Given the description of an element on the screen output the (x, y) to click on. 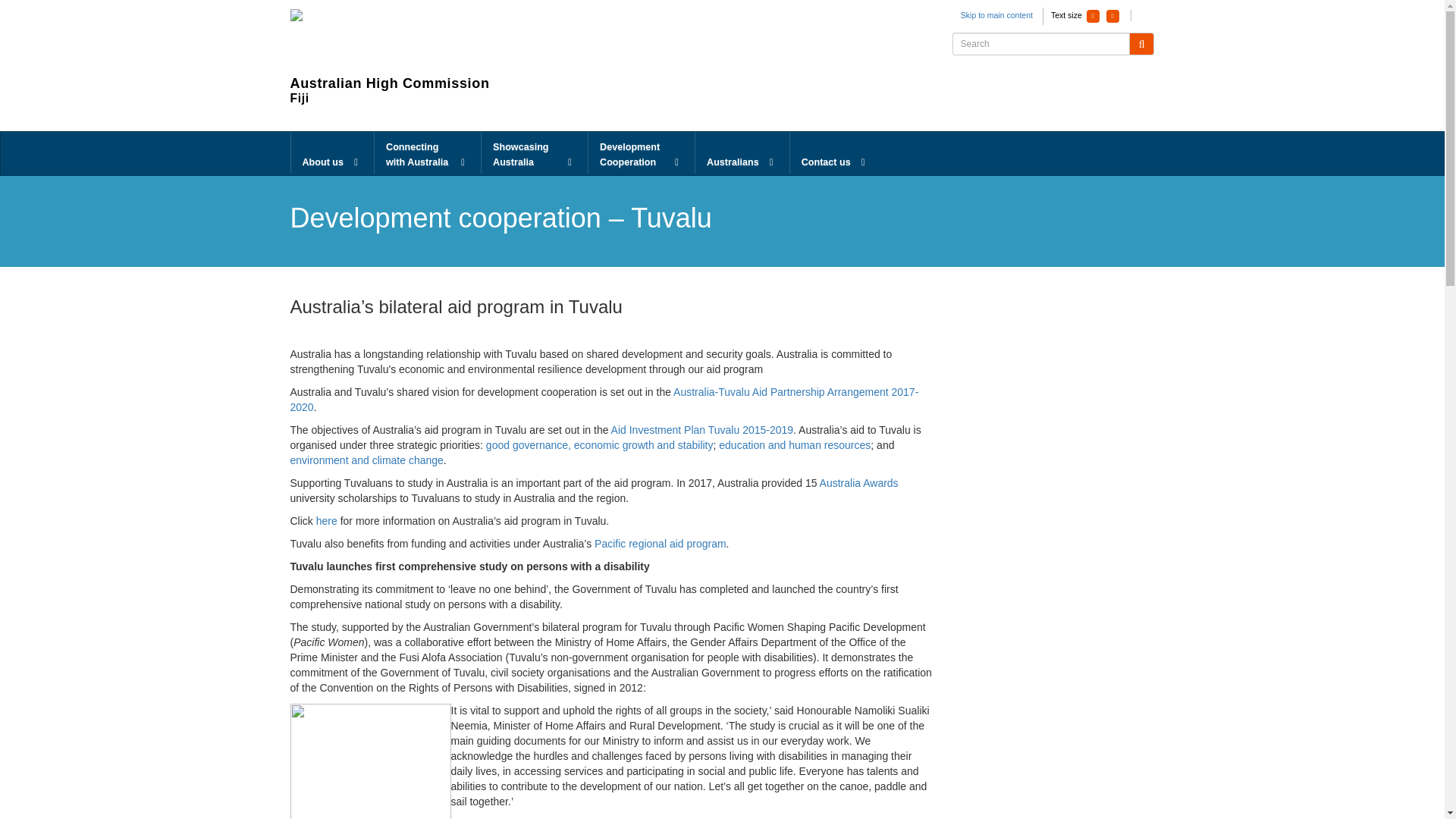
Aid Investment Plan Tuvalu 2015-2019 (702, 429)
Contact us   (835, 153)
education and human resources (794, 444)
About us   (332, 153)
Development Cooperation   (641, 153)
Increase text size. (1112, 15)
Australians   (742, 153)
Australia Awards (858, 482)
here (326, 521)
Skip to main content (996, 14)
good governance, economic growth and stability (599, 444)
Pacific regional aid program (660, 543)
Showcasing Australia   (534, 153)
environment and climate change (365, 460)
Connecting with Australia   (427, 153)
